Given the description of an element on the screen output the (x, y) to click on. 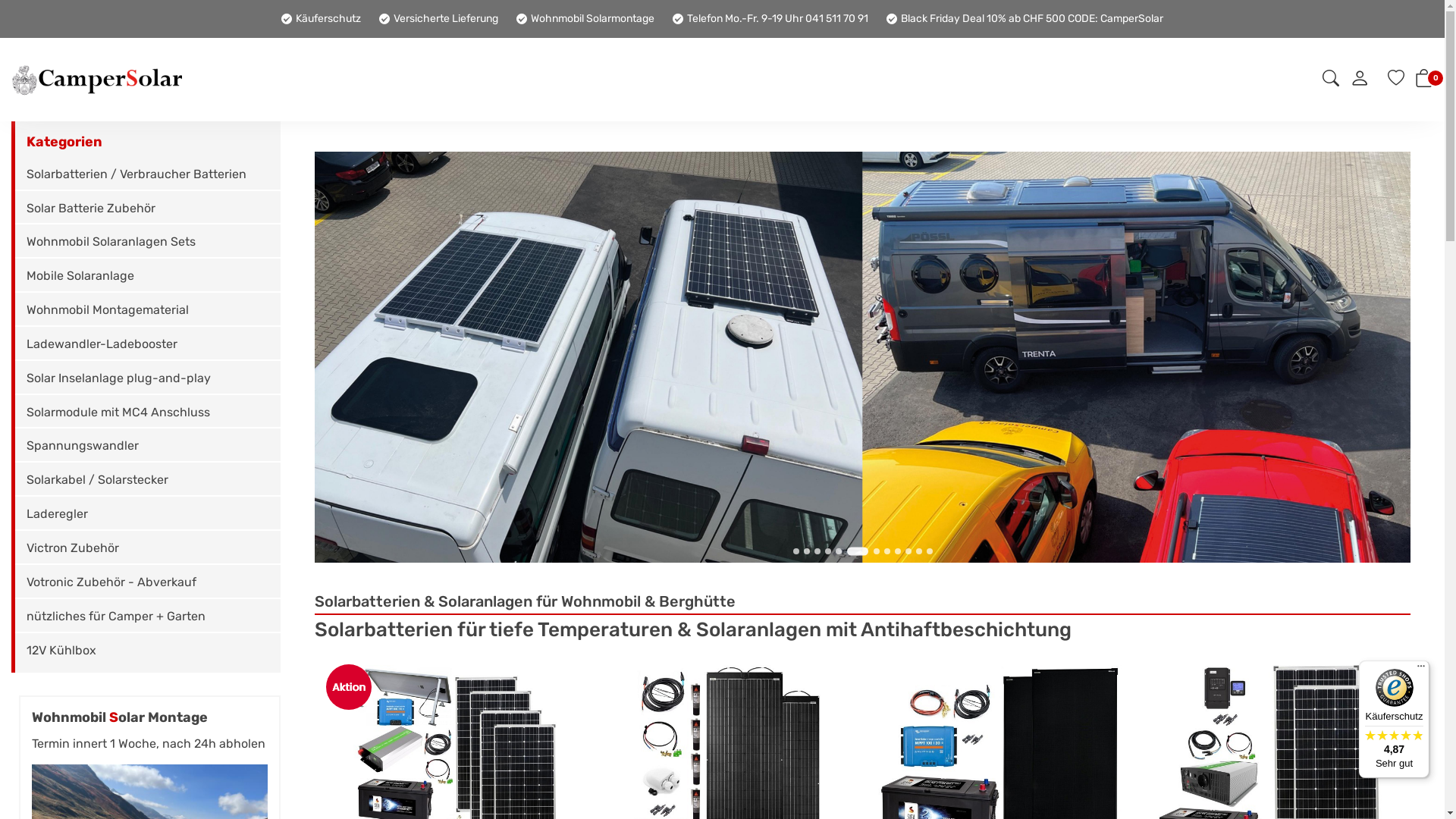
Wohnmobil Solaranlagen Sets Element type: text (147, 242)
Solarbatterien / Verbraucher Batterien Element type: text (147, 175)
Laderegler Element type: text (147, 514)
Ladewandler-Ladebooster Element type: text (147, 344)
Mobile Solaranlage Element type: text (147, 276)
Aktion! Element type: hover (348, 686)
Spannungswandler Element type: text (147, 446)
Black Friday Deal 10% ab CHF 500 CODE: CamperSolar Element type: text (1024, 18)
Mein Konto Element type: hover (1359, 81)
Wohnmobil Montagematerial Element type: text (147, 310)
Telefon Mo.-Fr. 9-19 Uhr 041 511 70 91 Element type: text (770, 18)
Versicherte Lieferung Element type: text (438, 18)
Merkliste Element type: hover (1395, 80)
Suche Element type: hover (1330, 80)
Wohnmobil Solarmontage Element type: text (585, 18)
0 Element type: text (1424, 81)
Solar Inselanlage plug-and-play Element type: text (147, 379)
Solarmodule mit MC4 Anschluss Element type: text (147, 413)
Solarkabel / Solarstecker Element type: text (147, 480)
